Given the description of an element on the screen output the (x, y) to click on. 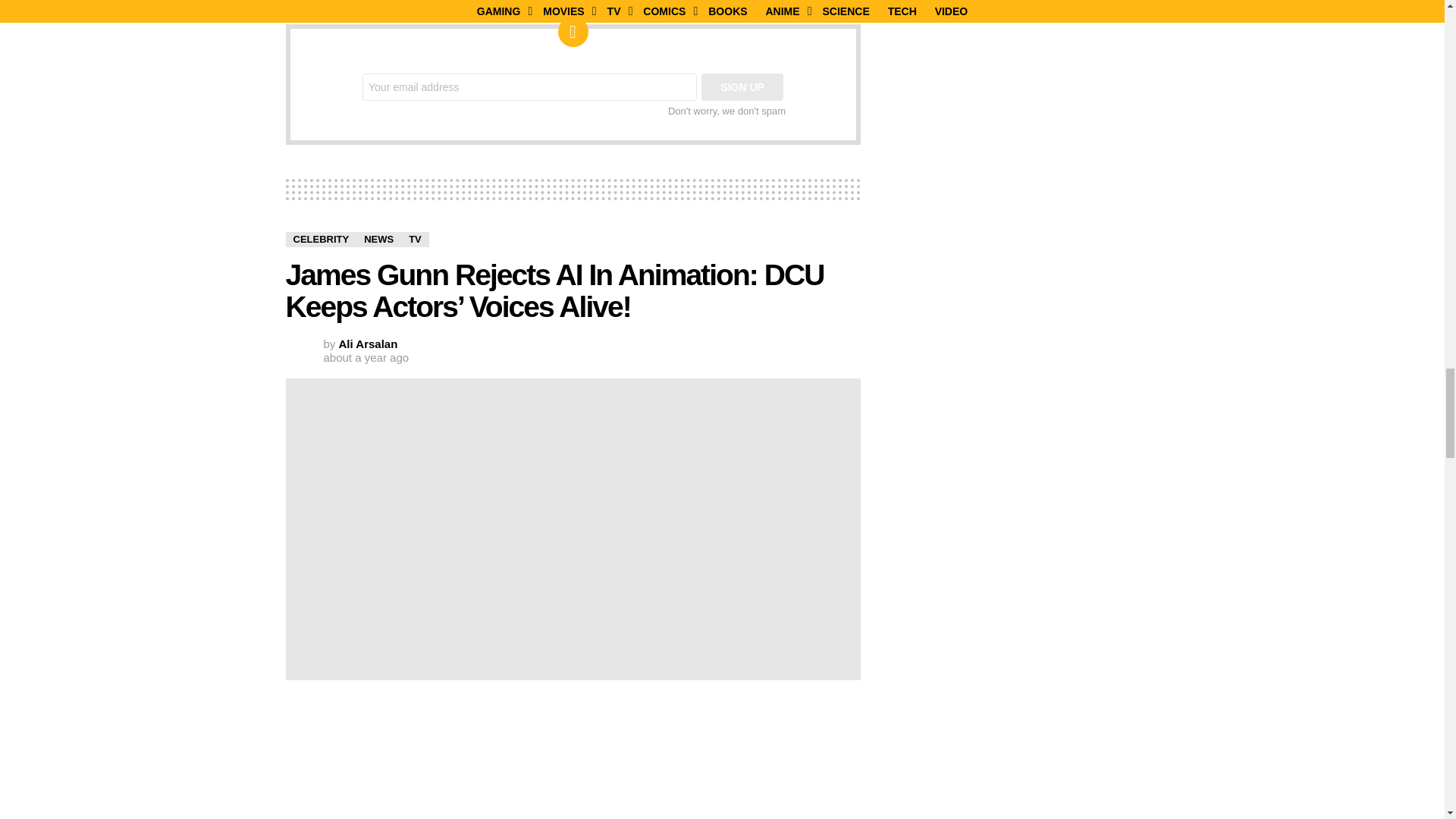
June 17, 2023, 3:39 am (366, 357)
Sign up (742, 86)
Posts by Ali Arsalan (368, 343)
